Given the description of an element on the screen output the (x, y) to click on. 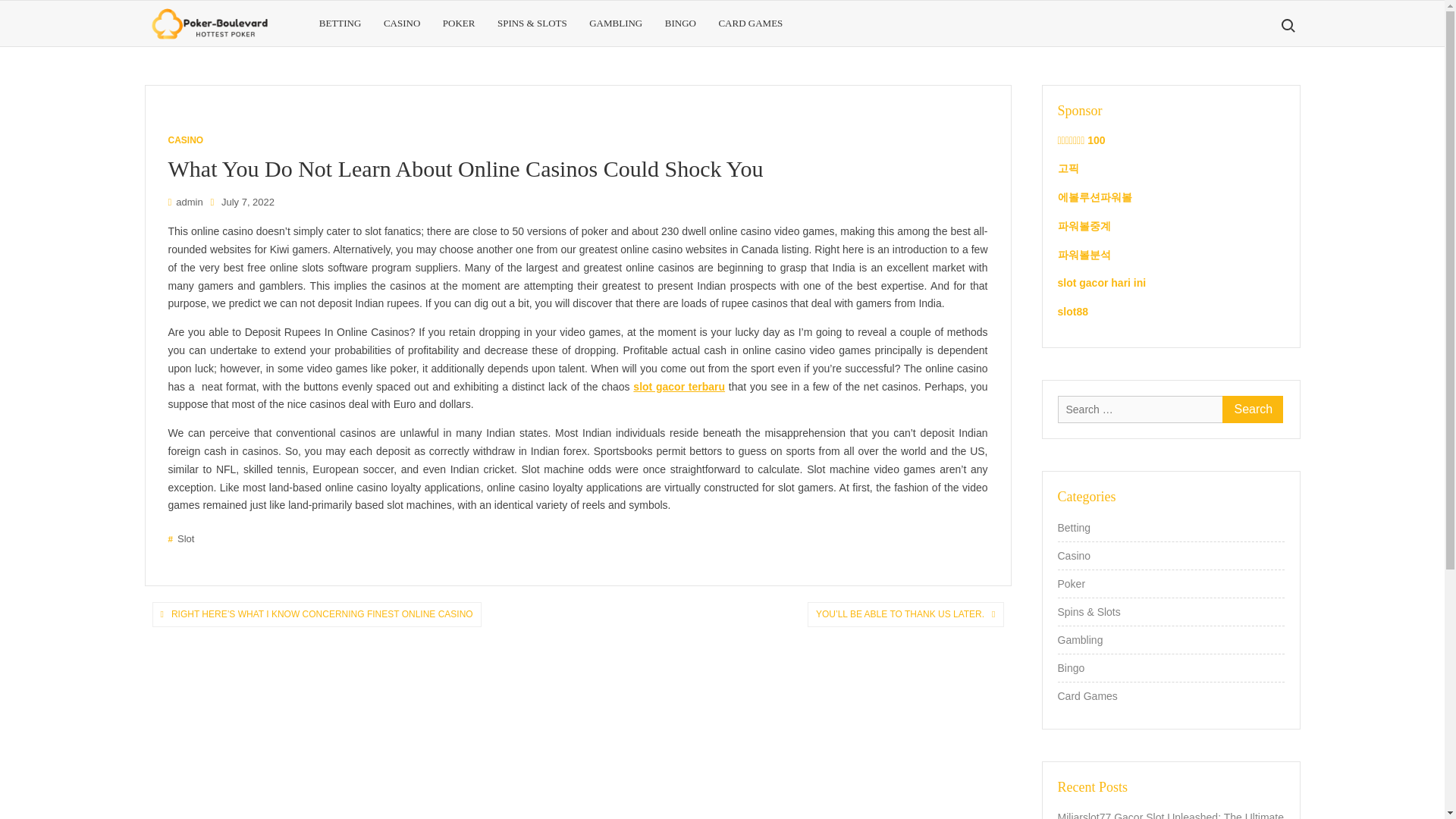
slot gacor hari ini (1101, 282)
GAMBLING (615, 22)
Search (1252, 409)
Slot (181, 538)
BETTING (339, 22)
POKER (458, 22)
BINGO (680, 22)
Search for: (1287, 25)
CASINO (401, 22)
slot gacor terbaru (679, 386)
